Given the description of an element on the screen output the (x, y) to click on. 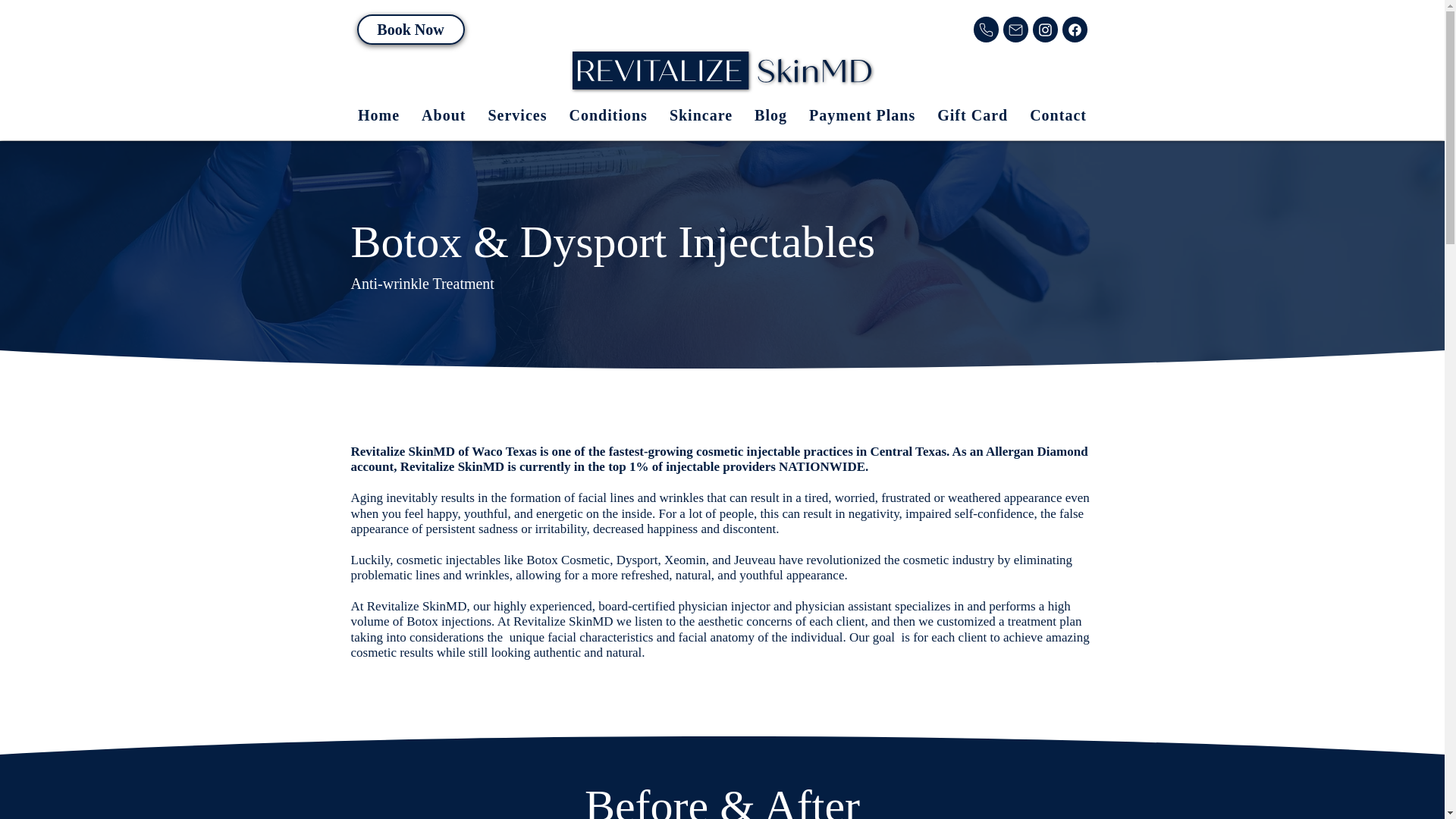
Home (378, 115)
About (443, 115)
Skincare (700, 115)
Book Now (410, 29)
